Given the description of an element on the screen output the (x, y) to click on. 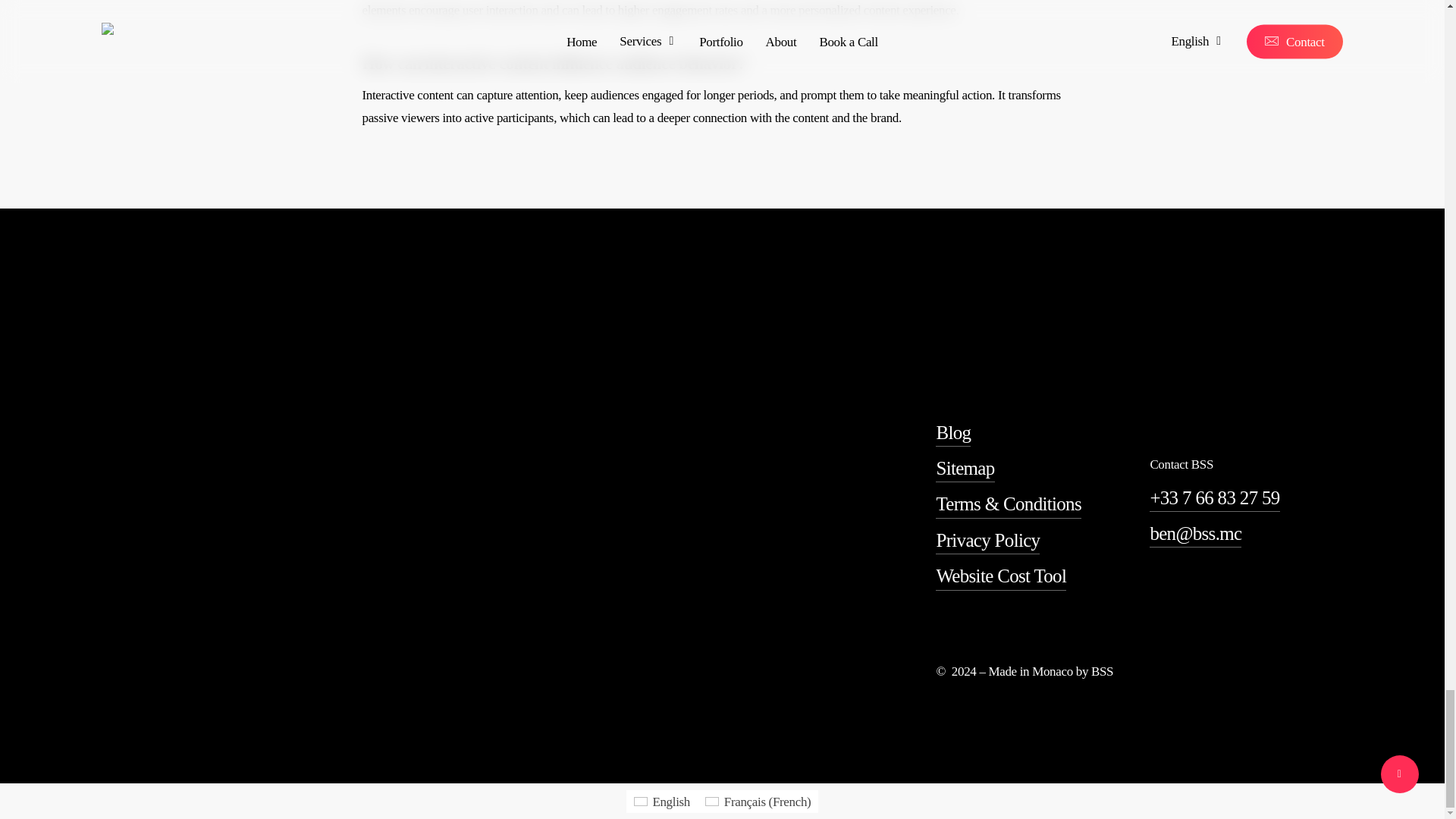
Blog (953, 432)
Sitemap (965, 468)
Website Cost Tool (1000, 575)
Privacy Policy (987, 540)
